Given the description of an element on the screen output the (x, y) to click on. 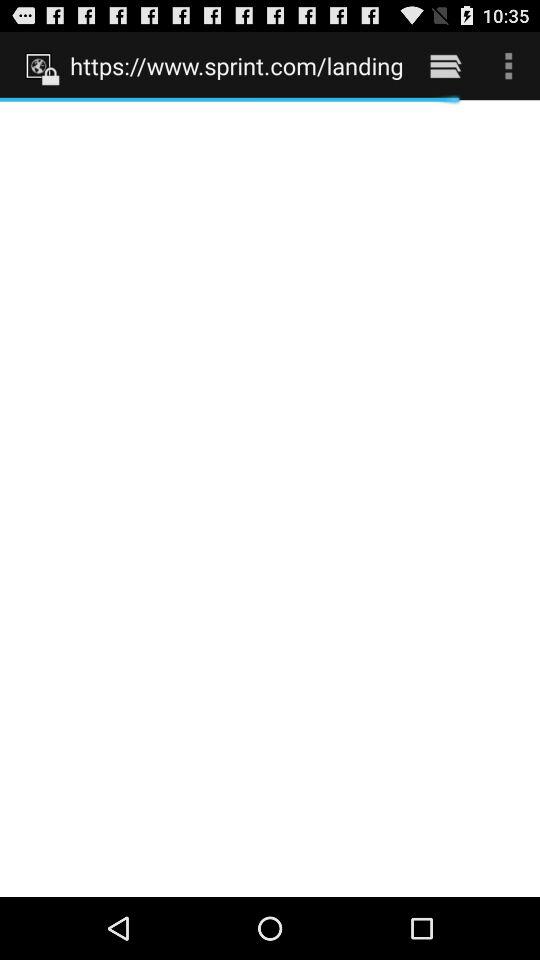
turn on icon at the center (270, 497)
